Given the description of an element on the screen output the (x, y) to click on. 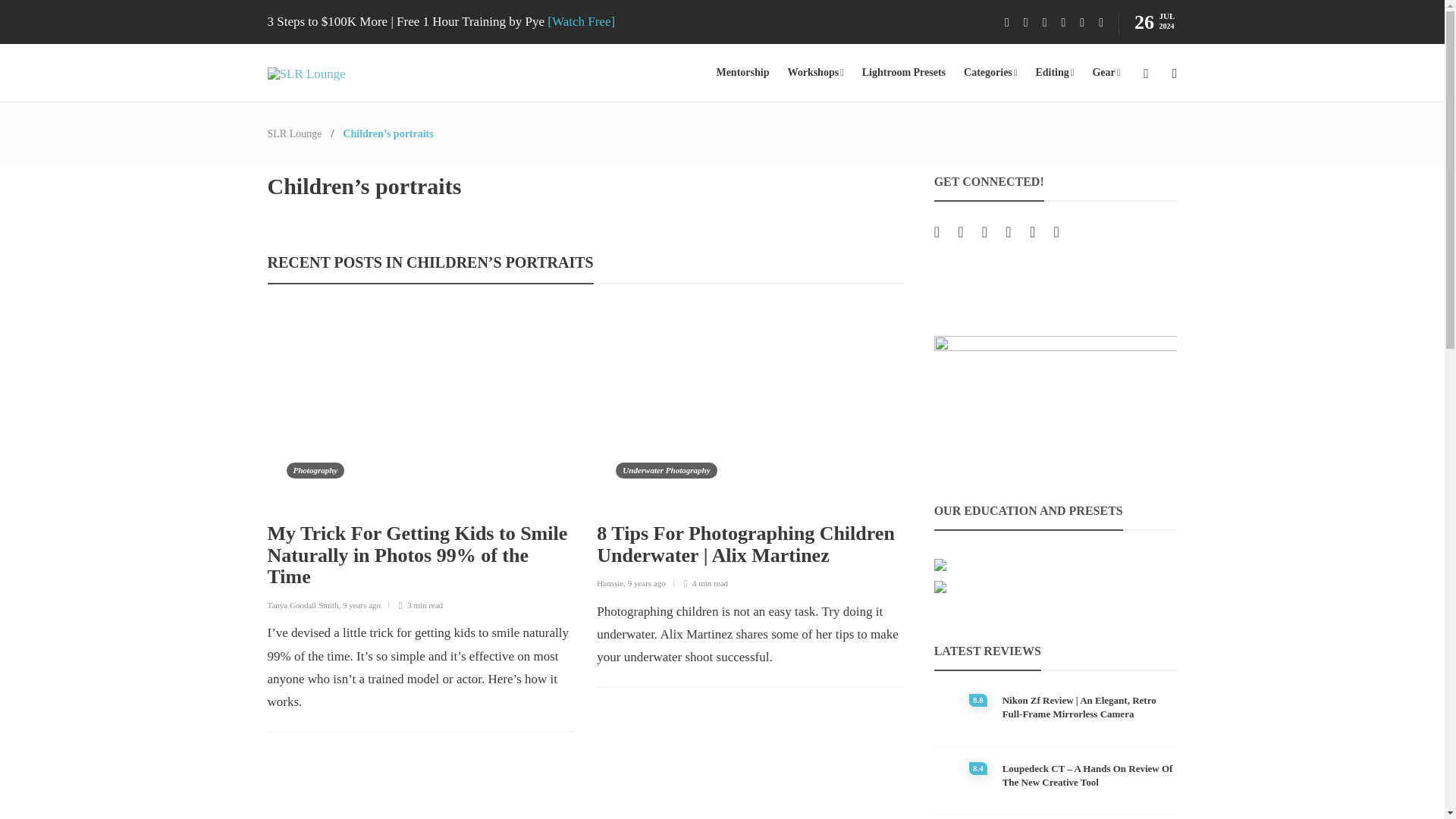
Mentorship (742, 72)
Lightroom Presets (902, 72)
Categories (989, 72)
Workshops (815, 72)
SLR Lounge (293, 133)
